Given the description of an element on the screen output the (x, y) to click on. 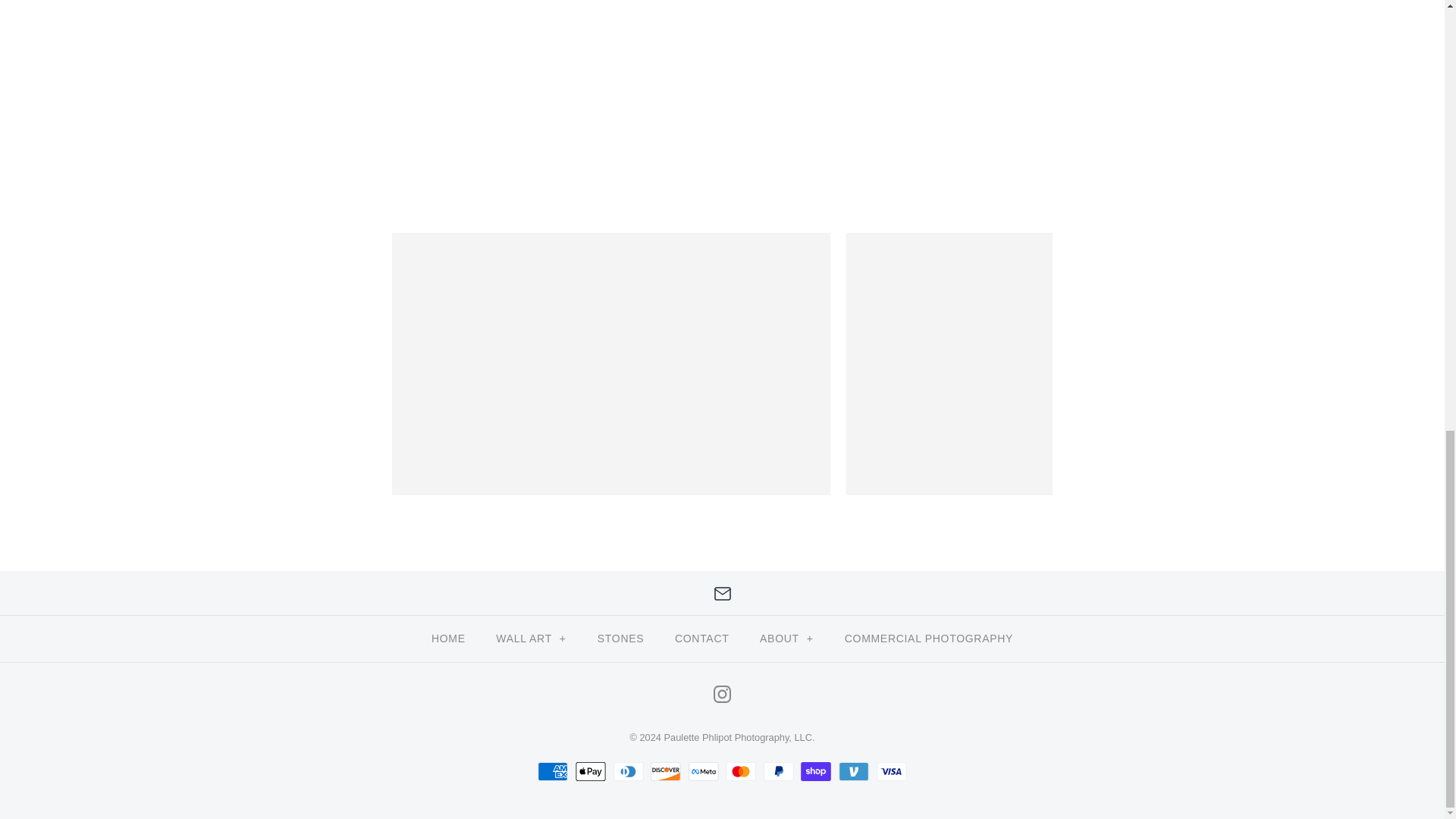
PayPal (777, 771)
Diners Club (627, 771)
Instagram (721, 693)
Apple Pay (590, 771)
Venmo (853, 771)
Visa (891, 771)
Meta Pay (703, 771)
Discover (665, 771)
Instagram (721, 693)
Shop Pay (815, 771)
